Given the description of an element on the screen output the (x, y) to click on. 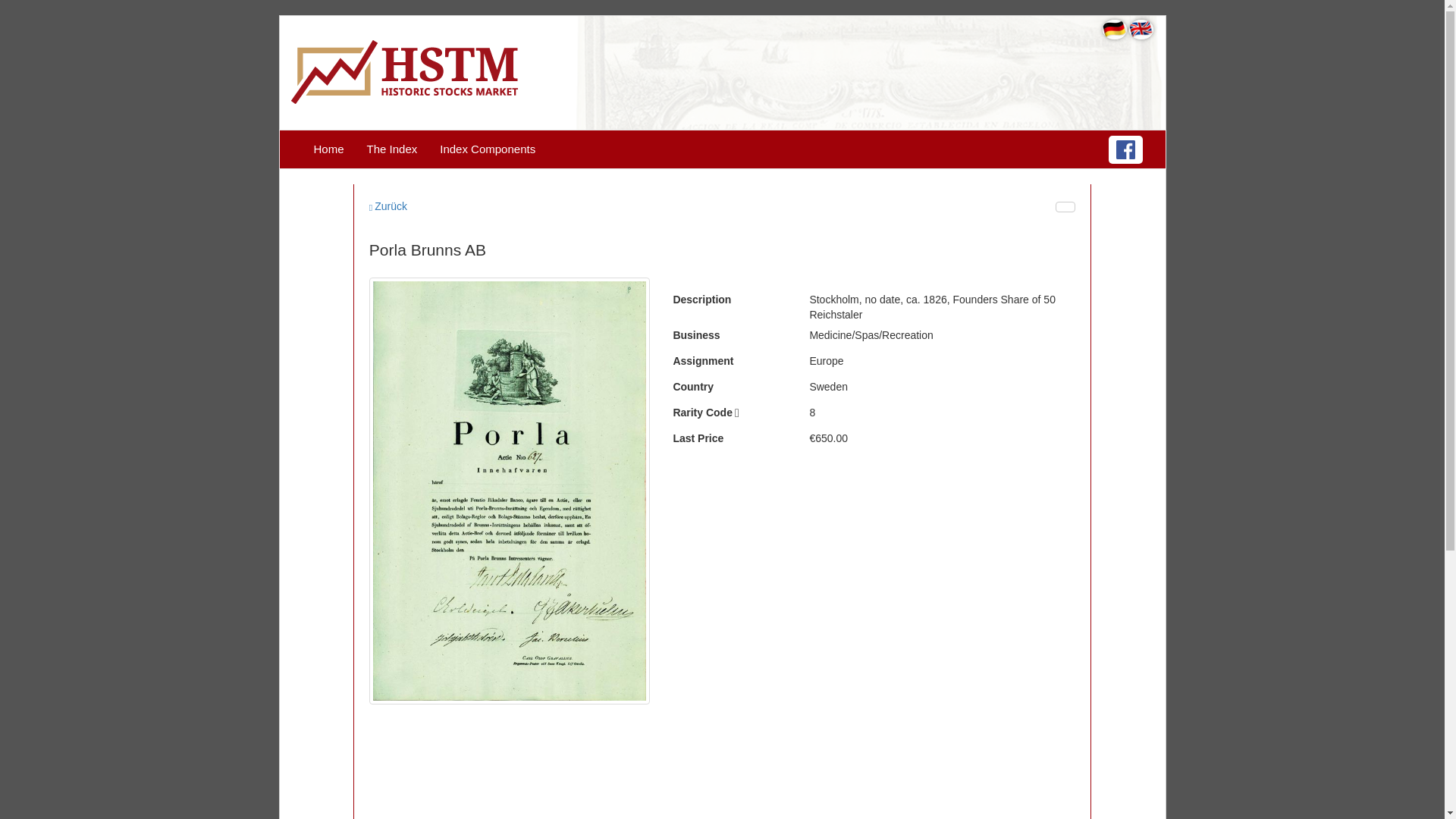
Index Components (487, 149)
The Index (392, 149)
Home (328, 149)
